Given the description of an element on the screen output the (x, y) to click on. 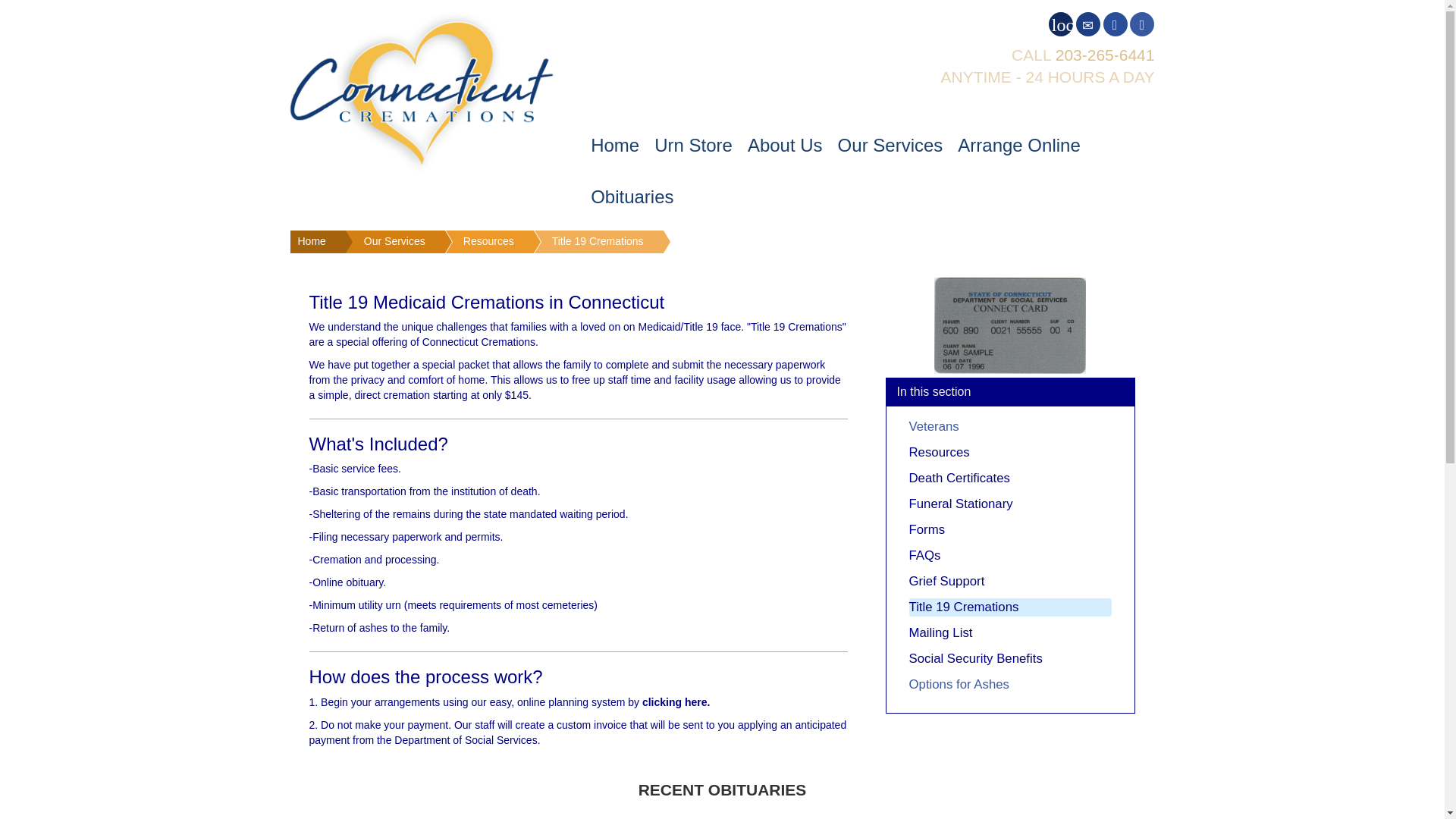
About Us (784, 145)
Our Services (889, 145)
facebook (1141, 24)
Urn Store (692, 145)
203-265-6441 (1104, 54)
Home (614, 145)
Send Flowers (1060, 24)
Directions (1114, 24)
Contact Us (1087, 24)
